Given the description of an element on the screen output the (x, y) to click on. 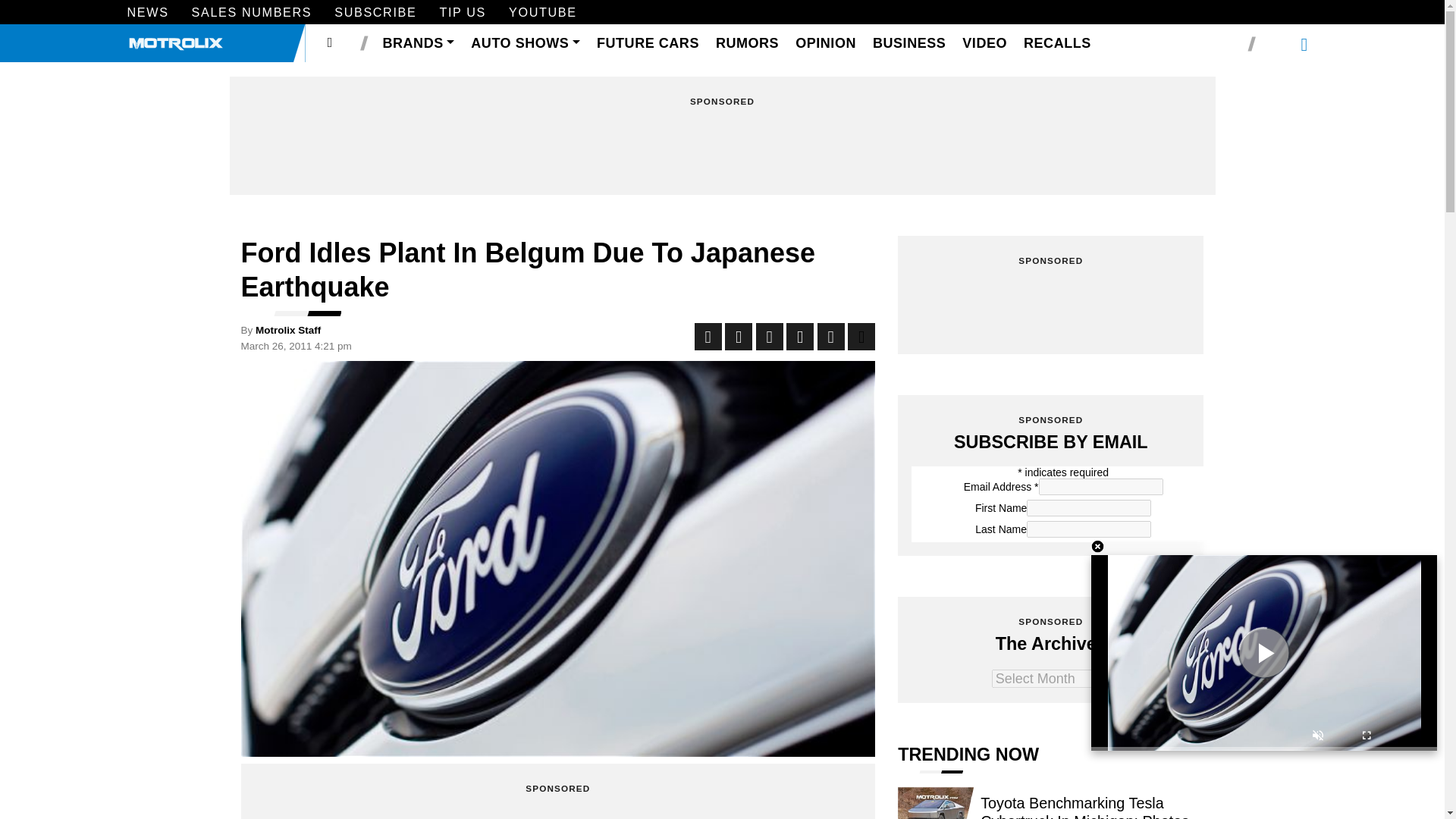
BRANDS (418, 43)
Advertisement (722, 146)
Print this article (861, 336)
TIP US (462, 13)
Share by Email (830, 336)
NEWS (148, 13)
Share on Facebook (708, 336)
YOUTUBE (542, 13)
Share on LinkedIn (769, 336)
SALES NUMBERS (252, 13)
Play (1263, 652)
Share on Pinterest (799, 336)
SUBSCRIBE (375, 13)
Unmute (1318, 737)
Share on Twitter (738, 336)
